Given the description of an element on the screen output the (x, y) to click on. 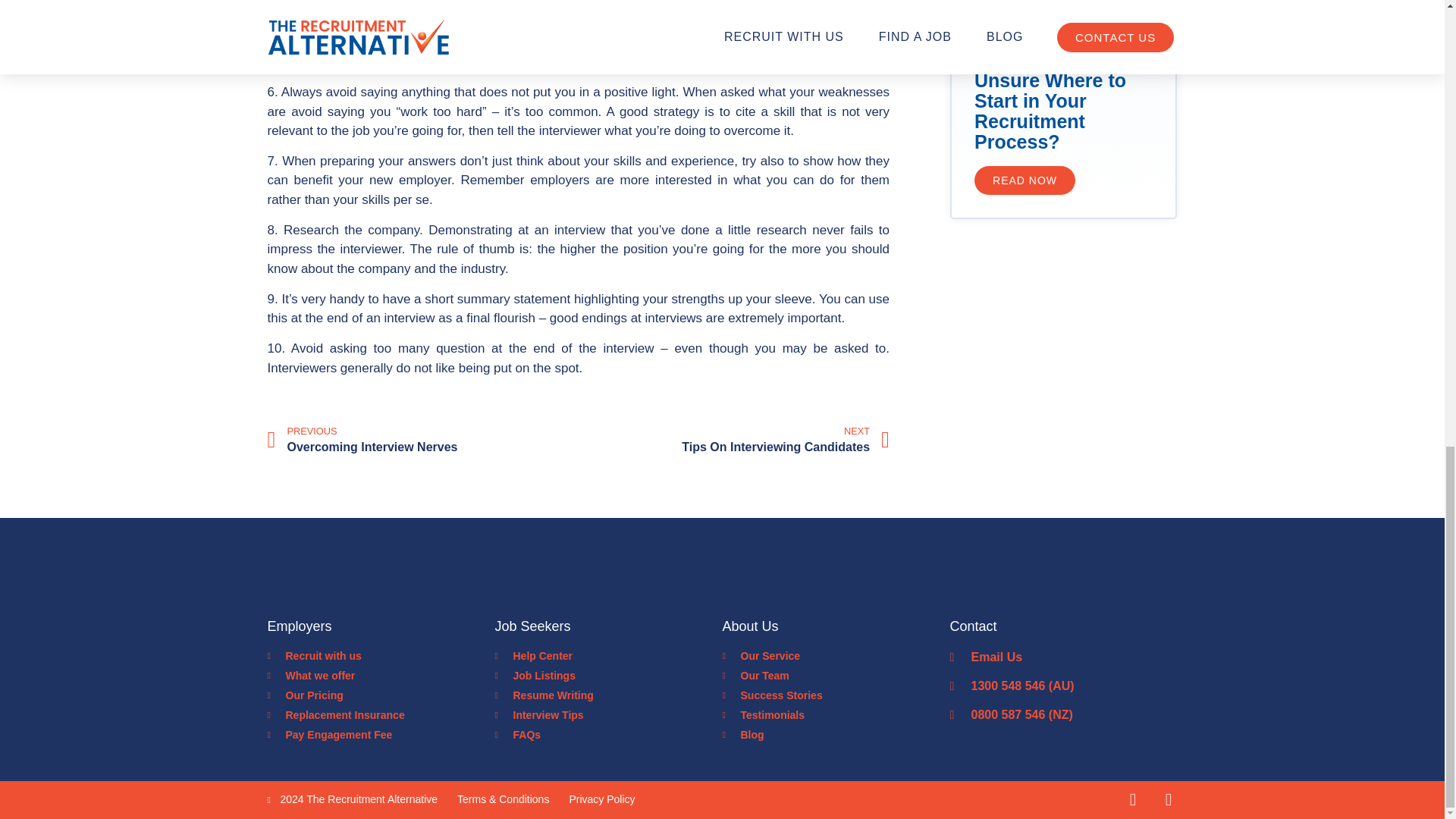
Recruit with us (380, 656)
Help Center (608, 656)
Unsure Where to Start in Your Recruitment Process? (1049, 110)
Replacement Insurance (735, 440)
Job Listings (380, 715)
Interview Tips (608, 675)
Our Pricing (419, 440)
Pay Engagement Fee (608, 715)
Resume Writing (380, 695)
What we offer (380, 734)
READ NOW (608, 695)
